Given the description of an element on the screen output the (x, y) to click on. 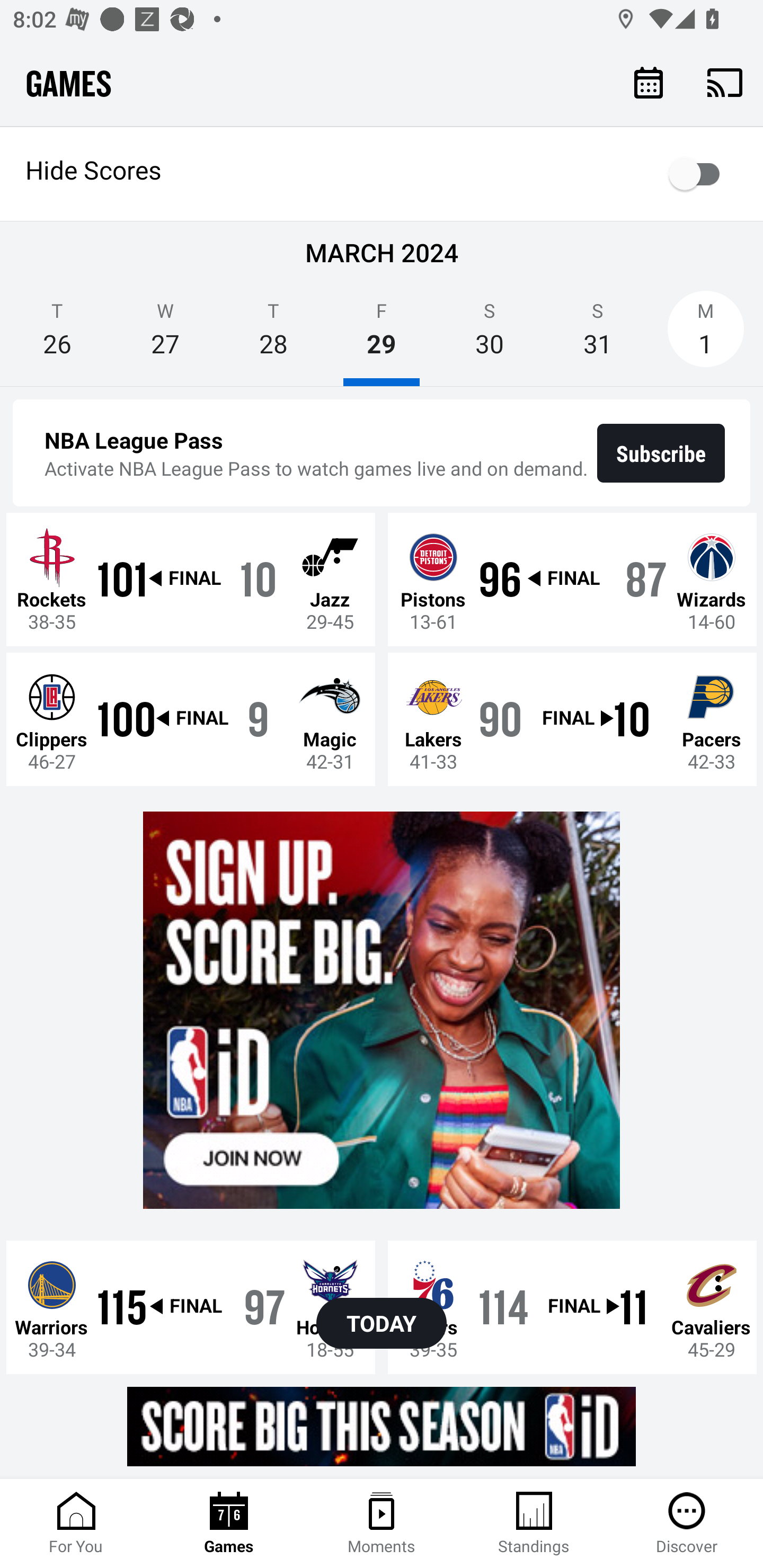
Cast. Disconnected (724, 82)
Calendar (648, 81)
Hide Scores (381, 174)
T 26 (57, 334)
W 27 (165, 334)
T 28 (273, 334)
F 29 (381, 334)
S 30 (489, 334)
S 31 (597, 334)
M 1 (705, 334)
Subscribe (660, 452)
Rockets 38-35 101 FINAL 100 Jazz 29-45 (190, 579)
Pistons 13-61 96 FINAL 87 Wizards 14-60 (571, 579)
Clippers 46-27 100 FINAL 97 Magic 42-31 (190, 718)
Lakers 41-33 90 FINAL 109 Pacers 42-33 (571, 718)
g5nqqygr7owph (381, 1010)
Warriors 39-34 115 FINAL 97 Hornets 18-55 (190, 1306)
76ers 39-35 114 FINAL 117 Cavaliers 45-29 (571, 1306)
TODAY (381, 1323)
g5nqqygr7owph (381, 1426)
For You (76, 1523)
Moments (381, 1523)
Standings (533, 1523)
Discover (686, 1523)
